Given the description of an element on the screen output the (x, y) to click on. 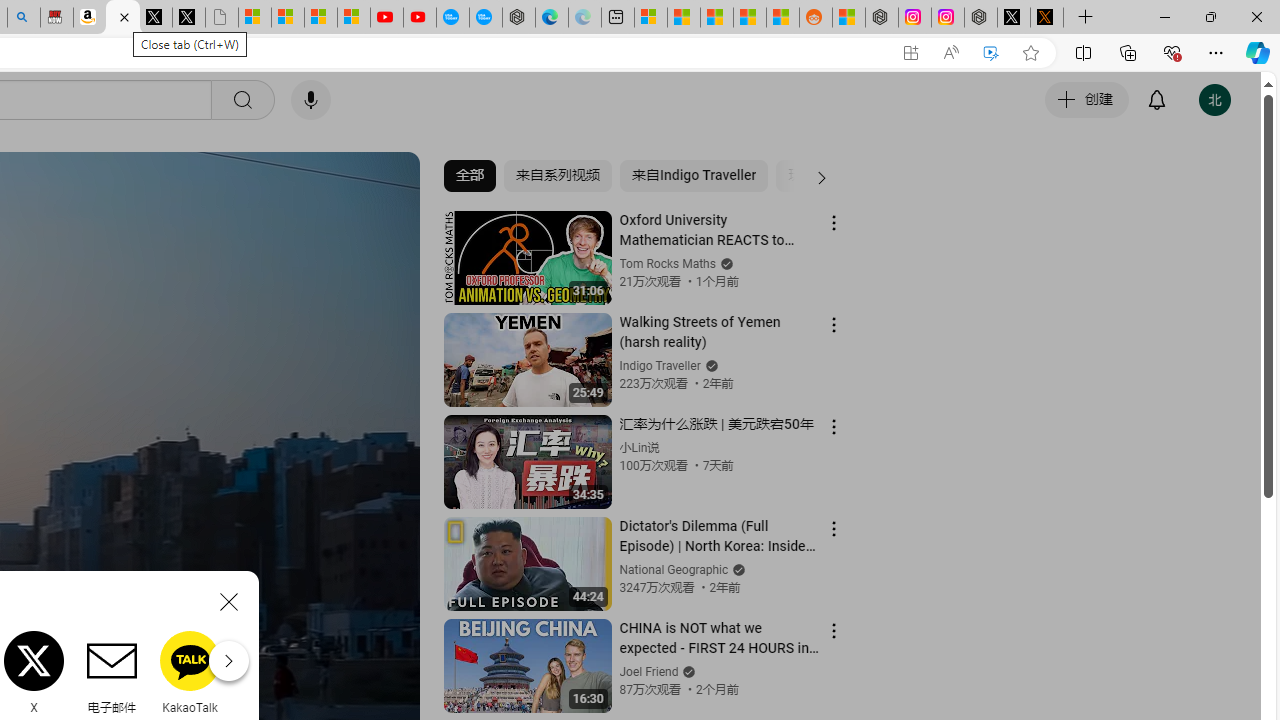
Shanghai, China hourly forecast | Microsoft Weather (717, 17)
Nordace (@NordaceOfficial) / X (1014, 17)
